Given the description of an element on the screen output the (x, y) to click on. 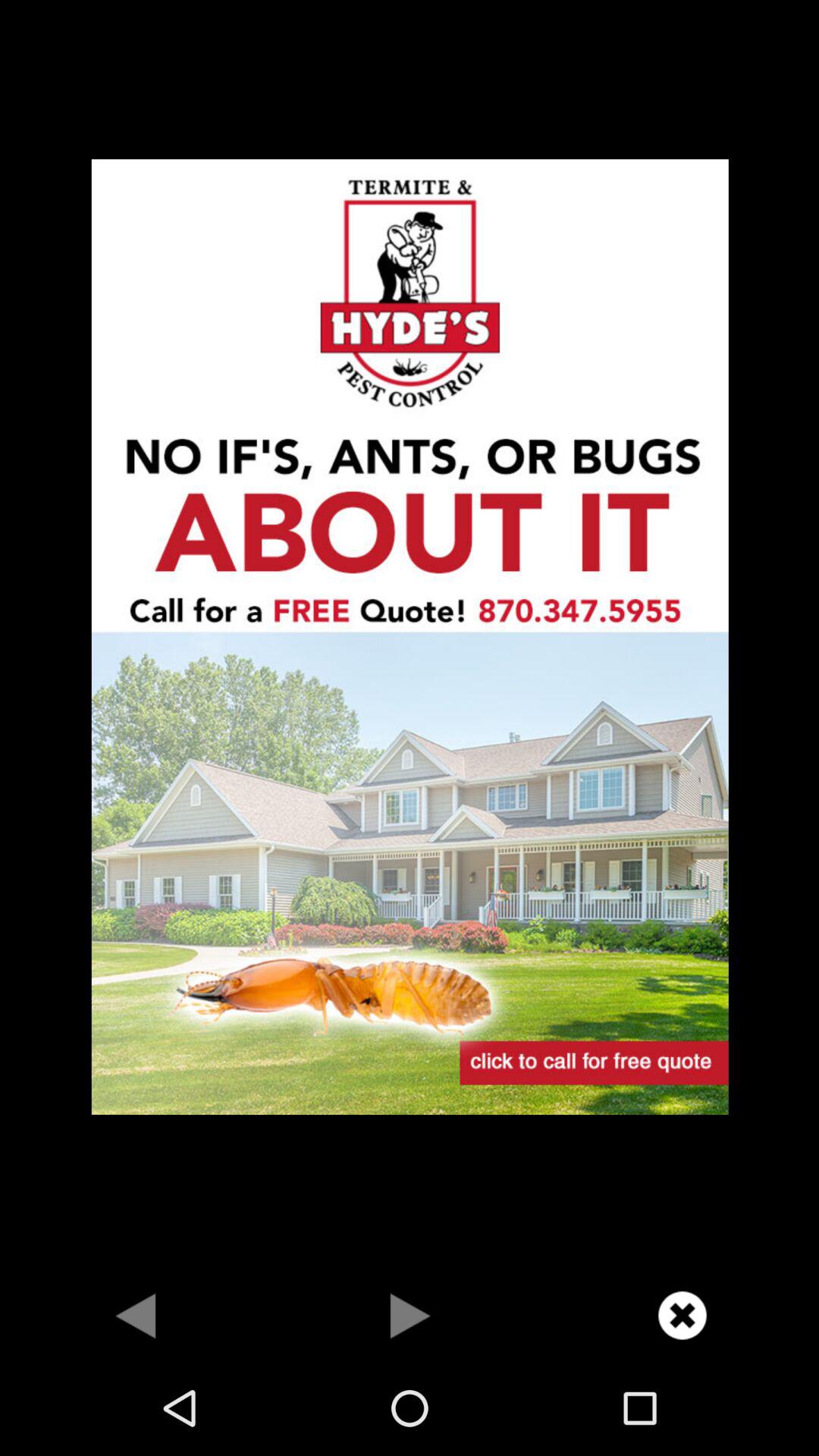
forward (409, 1315)
